Given the description of an element on the screen output the (x, y) to click on. 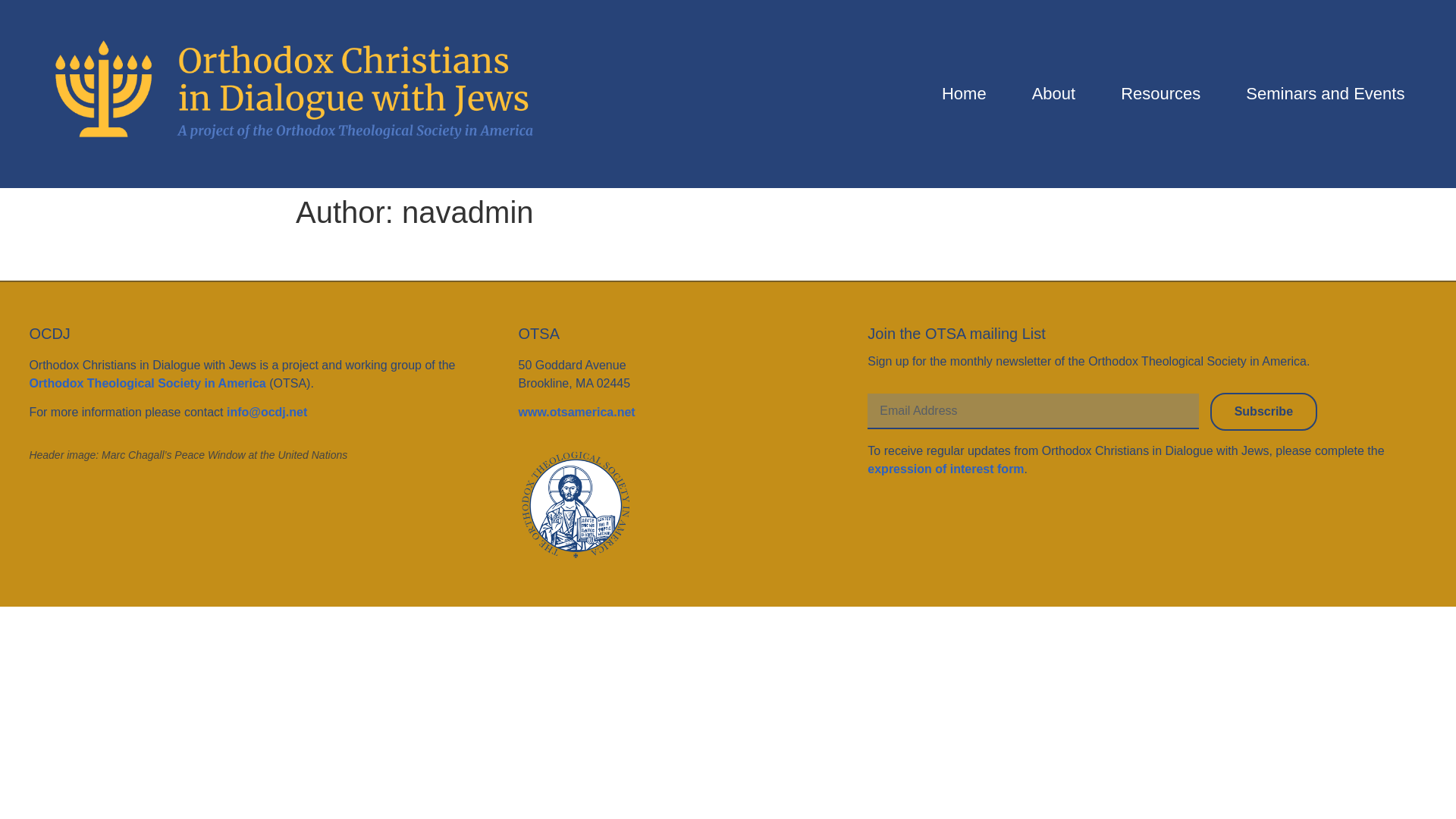
www.otsamerica.net (576, 411)
expression of interest form (945, 468)
Orthodox Theological Society in America (146, 382)
Subscribe (1263, 411)
Seminars and Events (1325, 94)
Resources (1160, 94)
Home (964, 94)
About (1054, 94)
